Given the description of an element on the screen output the (x, y) to click on. 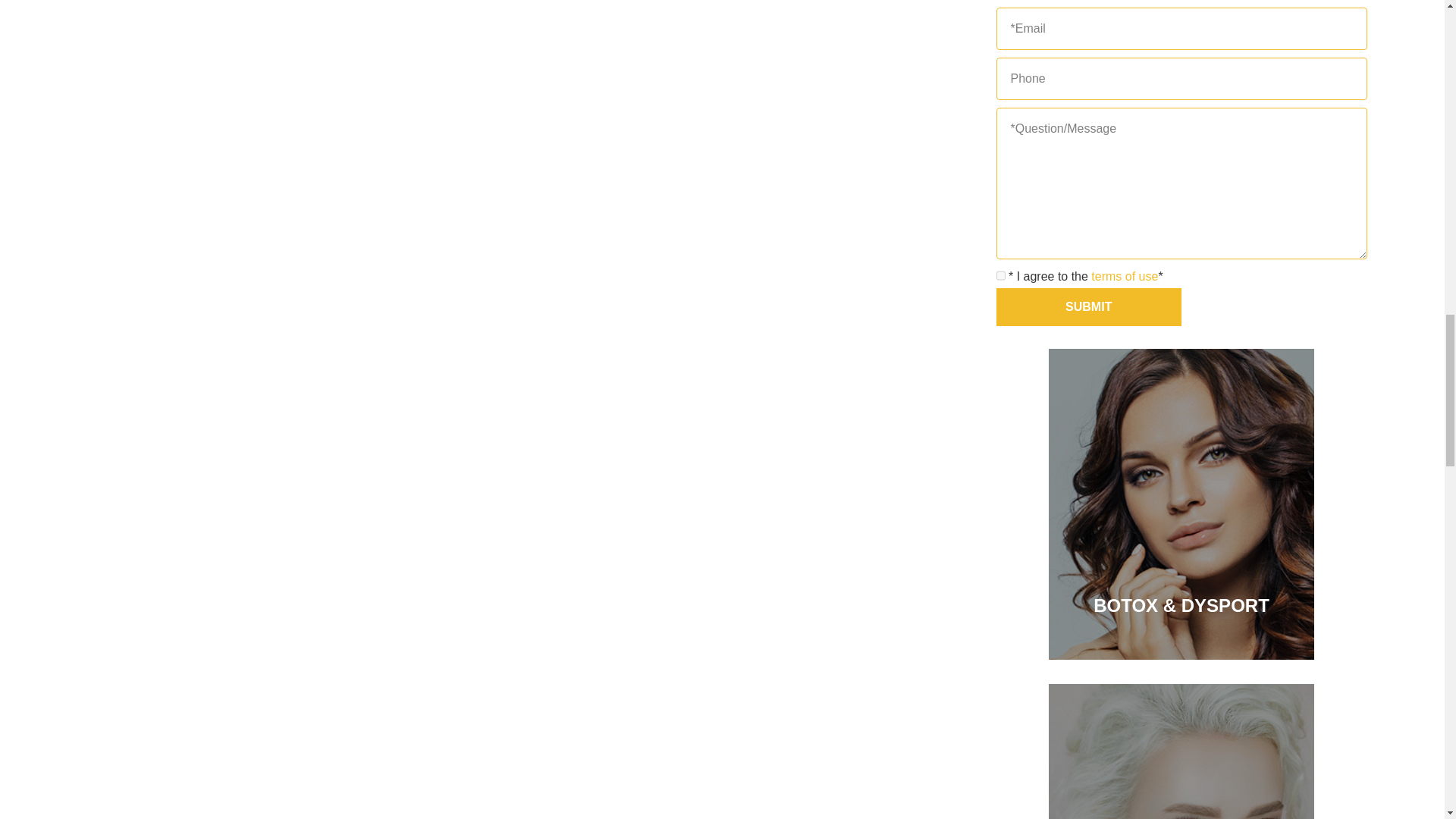
1 (1000, 275)
Submit (1088, 306)
